Given the description of an element on the screen output the (x, y) to click on. 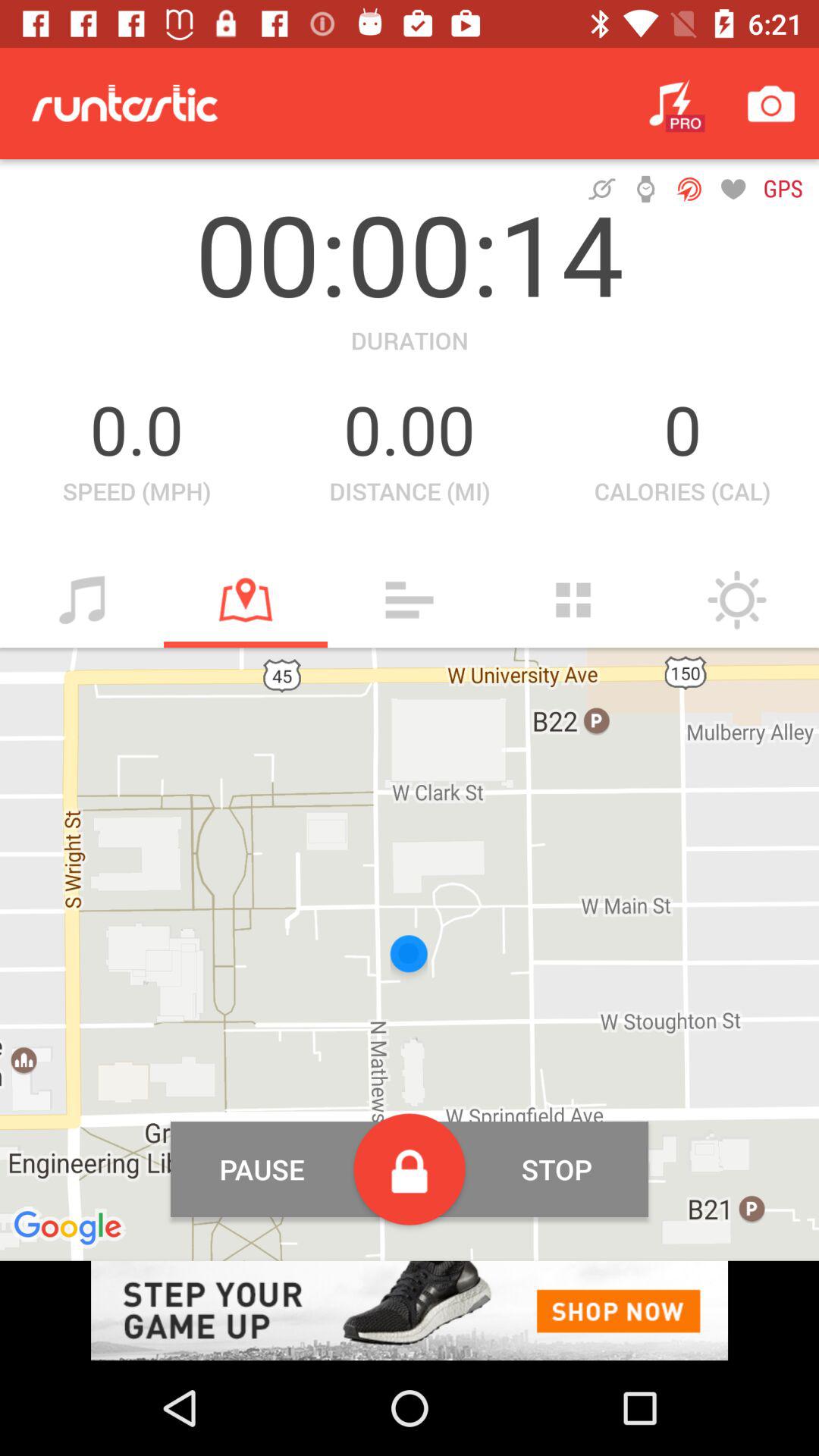
view weather conditions (737, 599)
